Given the description of an element on the screen output the (x, y) to click on. 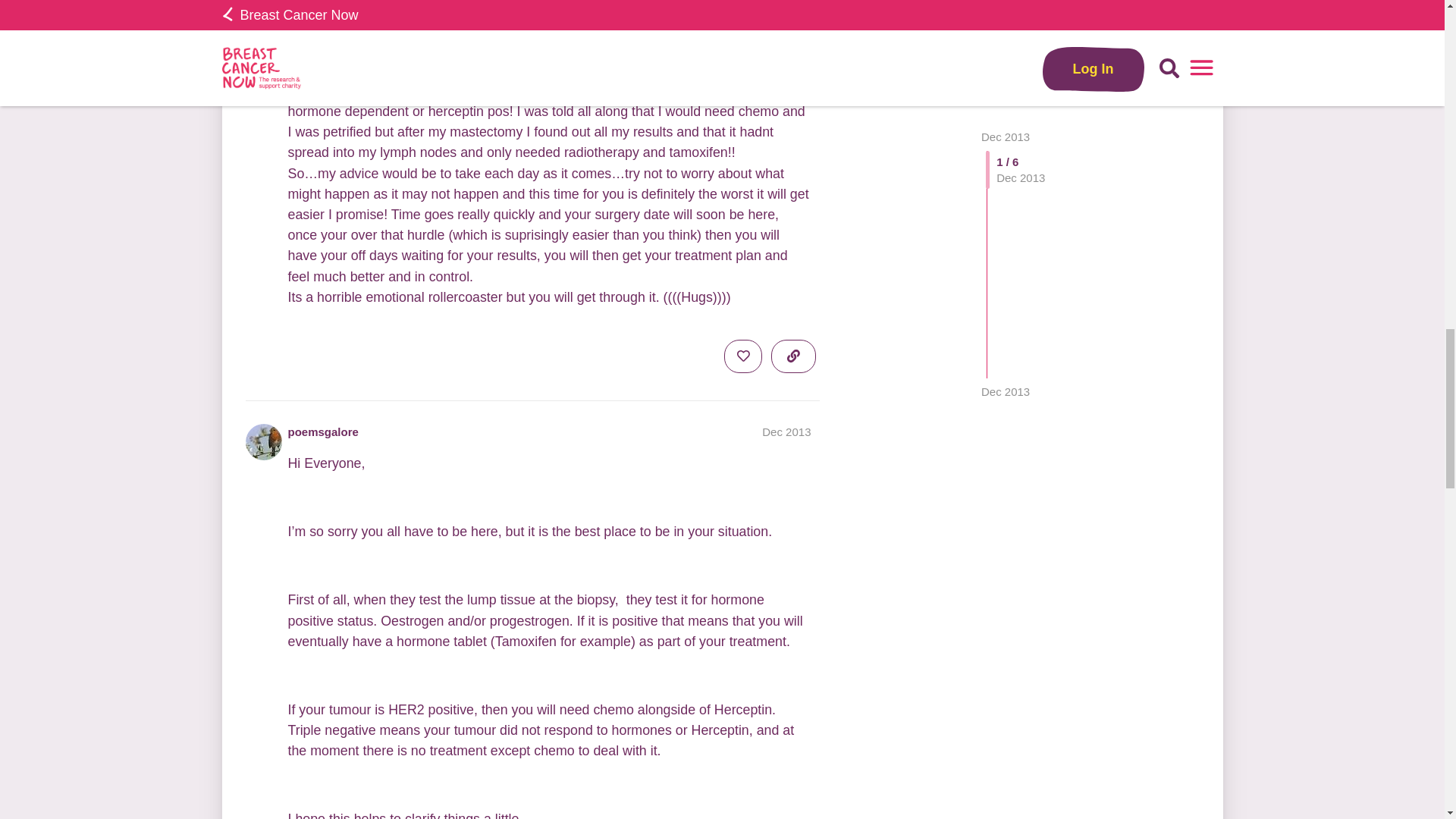
4littlecherubs (325, 17)
Dec 2013 (785, 17)
